Given the description of an element on the screen output the (x, y) to click on. 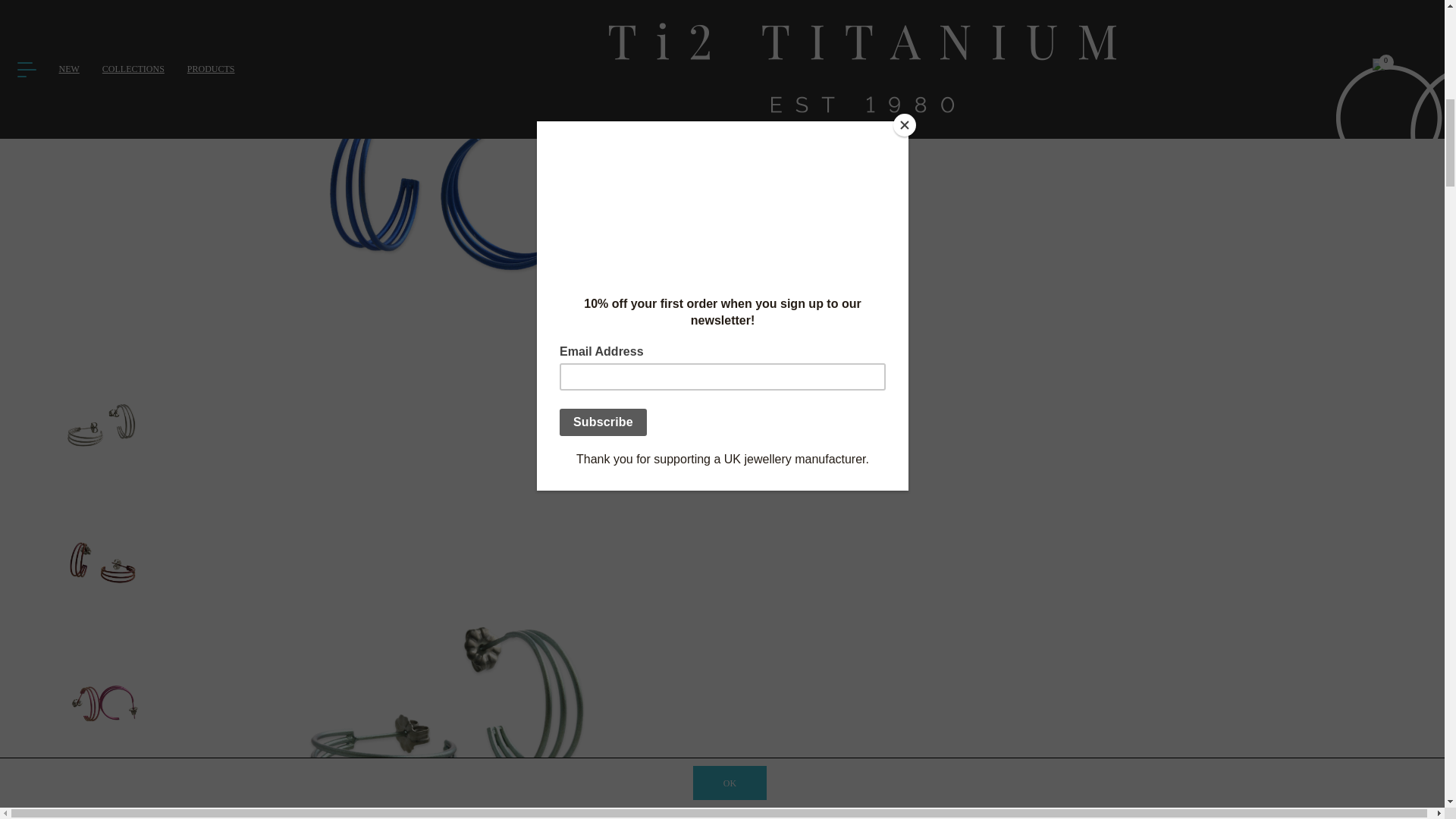
Add to Wish List (1080, 88)
add to basket (1080, 49)
1 (777, 9)
